Given the description of an element on the screen output the (x, y) to click on. 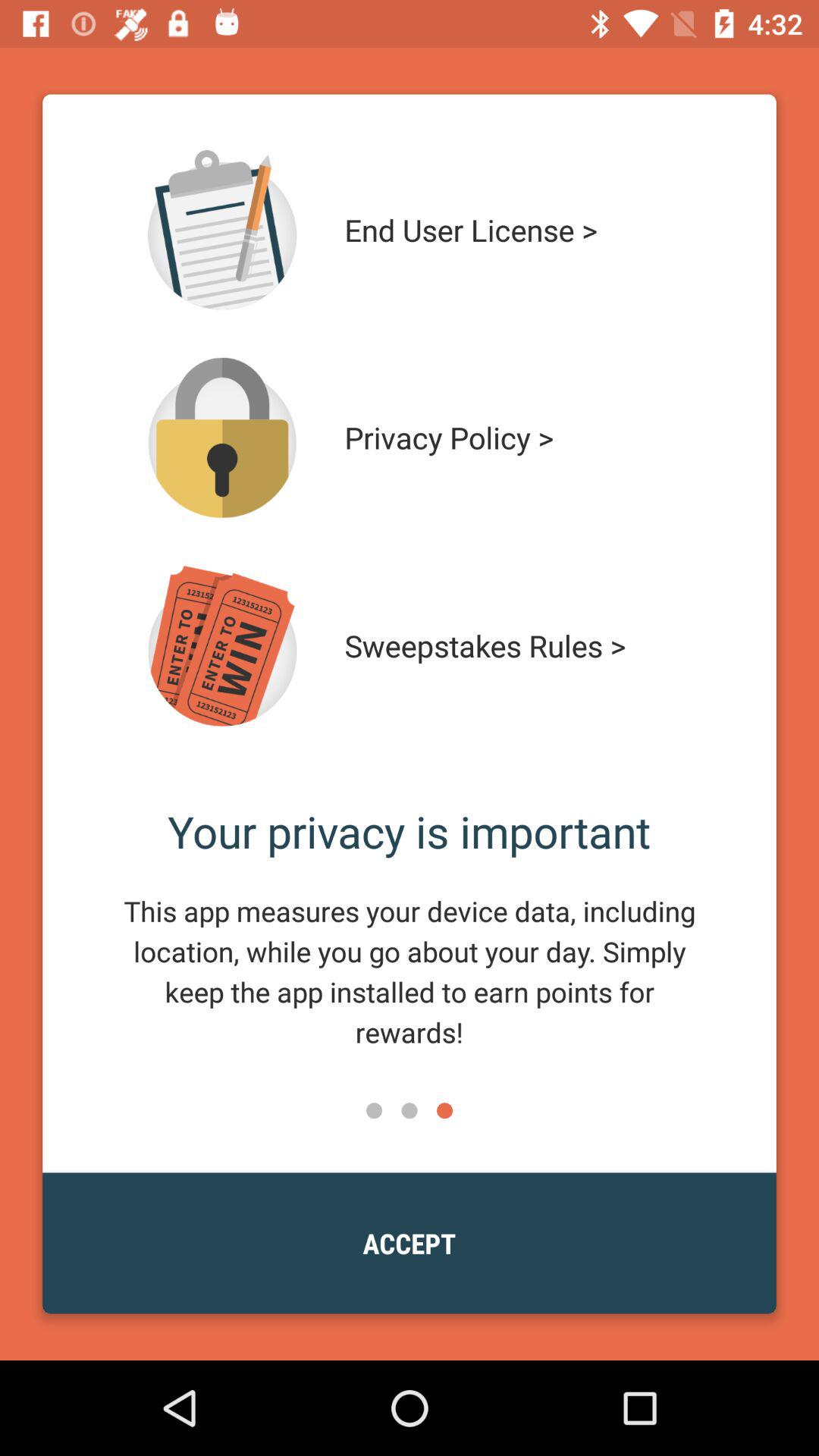
text to be read (222, 229)
